Given the description of an element on the screen output the (x, y) to click on. 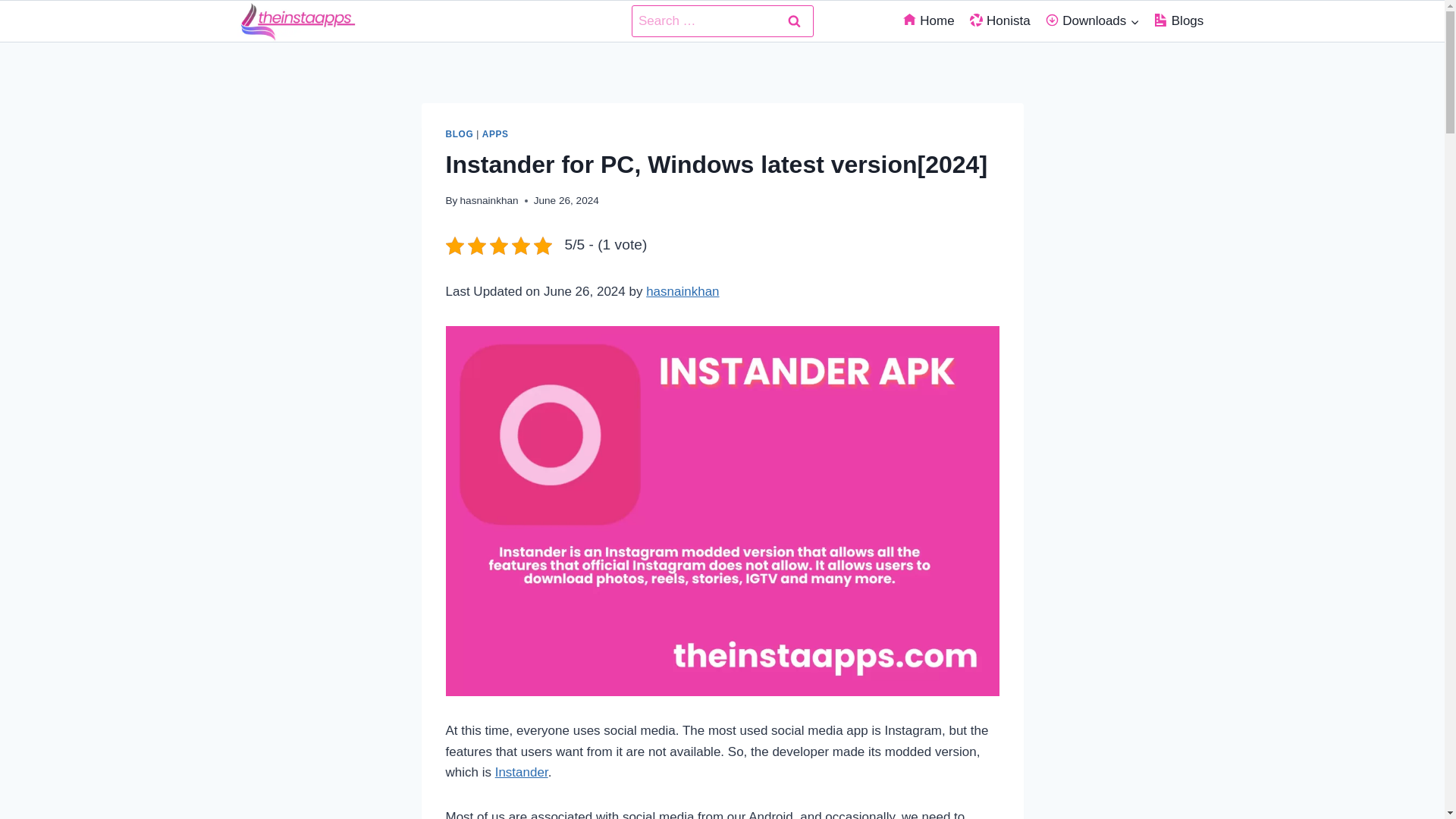
Instander (521, 771)
Search (793, 20)
Search (793, 20)
Search (793, 20)
BLOG (459, 133)
Honista (1000, 21)
Downloads (1092, 21)
hasnainkhan (489, 200)
APPS (494, 133)
hasnainkhan (682, 291)
Home (928, 21)
Blogs (1179, 21)
